Given the description of an element on the screen output the (x, y) to click on. 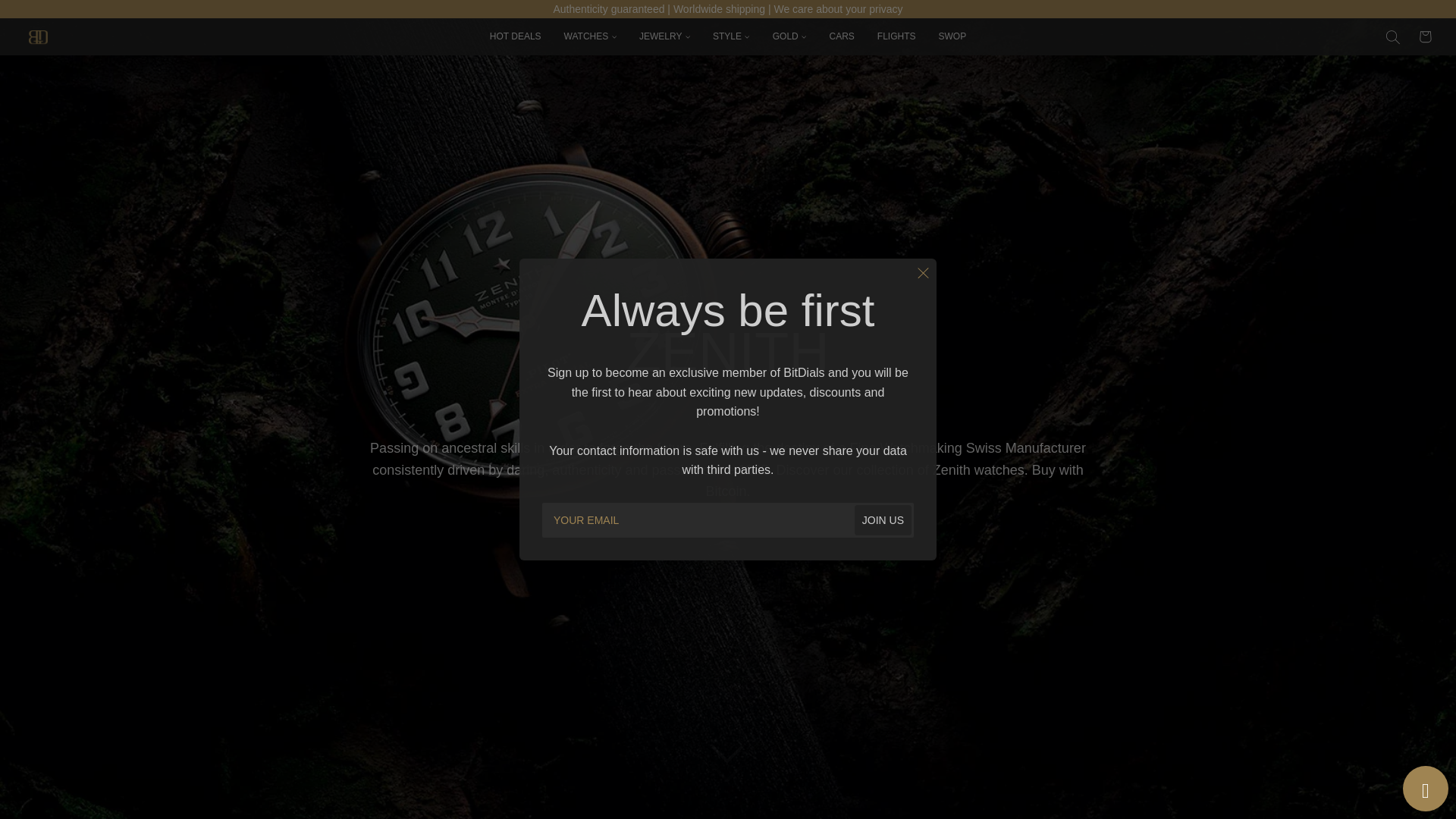
JOIN US (882, 520)
HOT DEALS (515, 36)
